Given the description of an element on the screen output the (x, y) to click on. 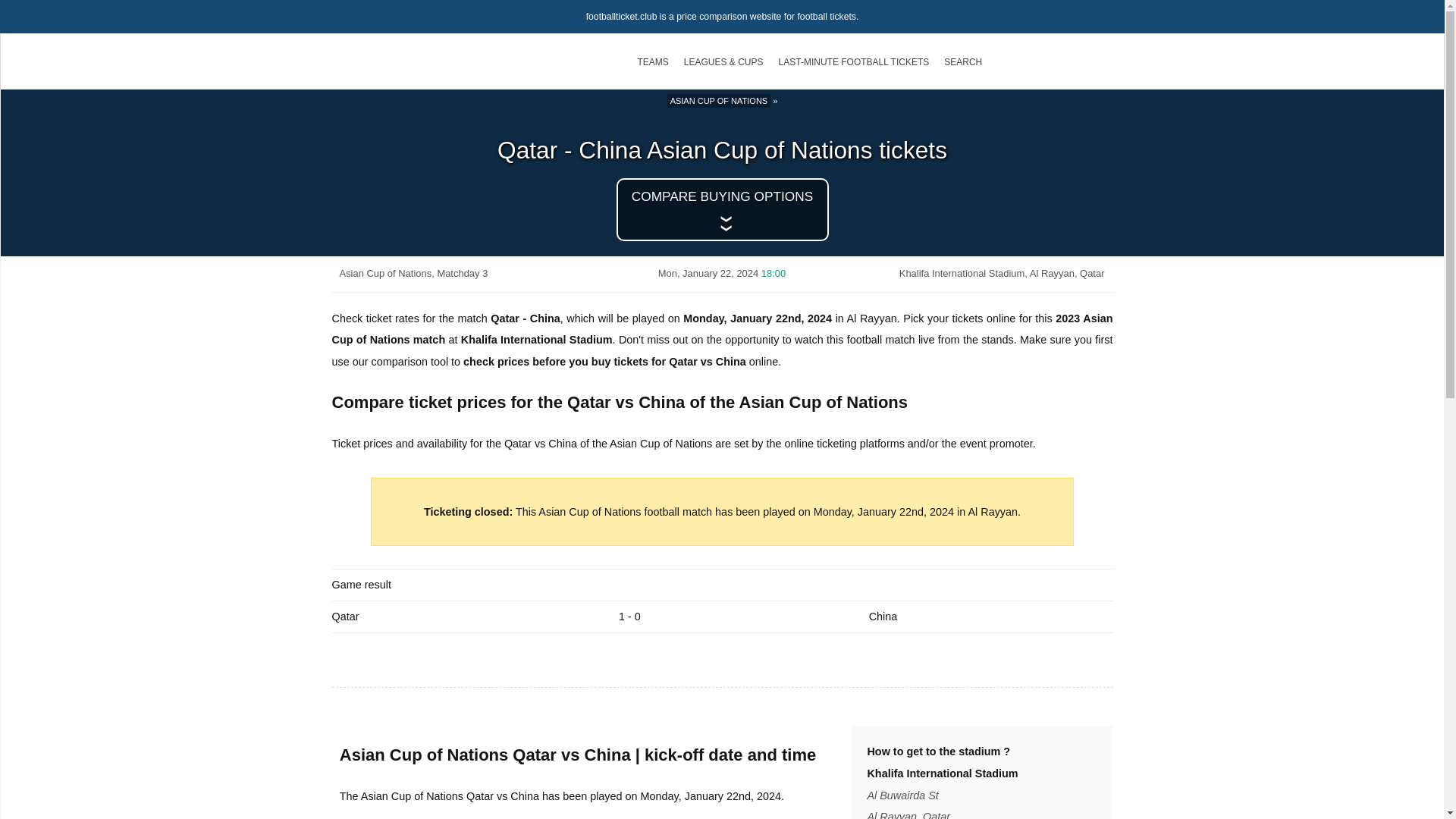
TIGRES TICKETS (801, 249)
Compare ticket prices for  2023 Asian Cup of Nations matches (718, 100)
NEWCASTLE TICKETS (483, 226)
ENGLAND (487, 108)
NEW YORK RED BULLS TICKETS (801, 178)
MANCHESTER UTD TICKETS (483, 132)
Football Ticket Club (448, 55)
SEE ALL CLUBS (960, 132)
BRIGHTON TICKETS (483, 296)
AL-NASSR FC TICKETS (801, 155)
